Given the description of an element on the screen output the (x, y) to click on. 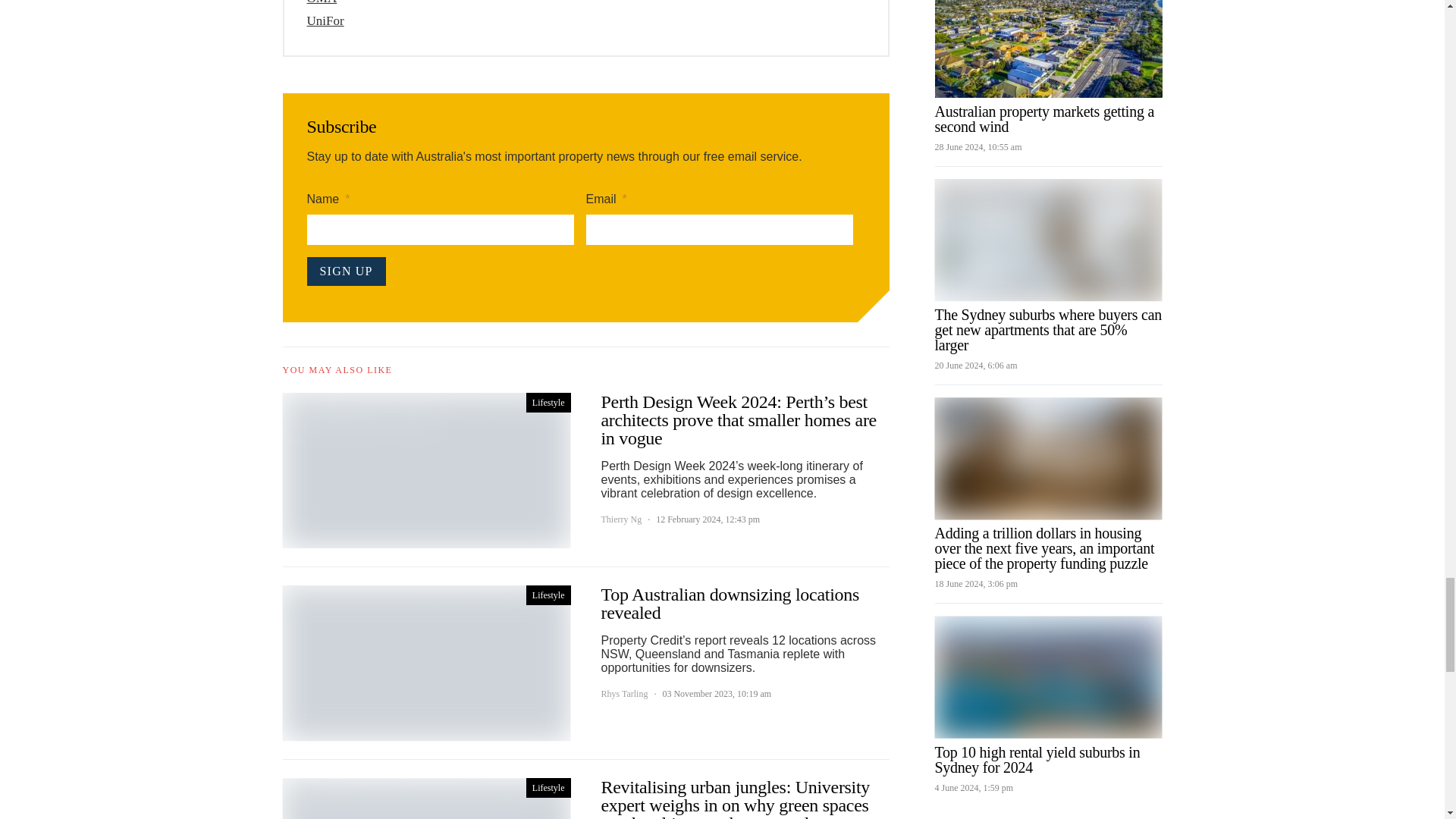
View all posts by Thierry Ng (620, 519)
Sign up (345, 271)
View all posts by Rhys Tarling (623, 694)
